Given the description of an element on the screen output the (x, y) to click on. 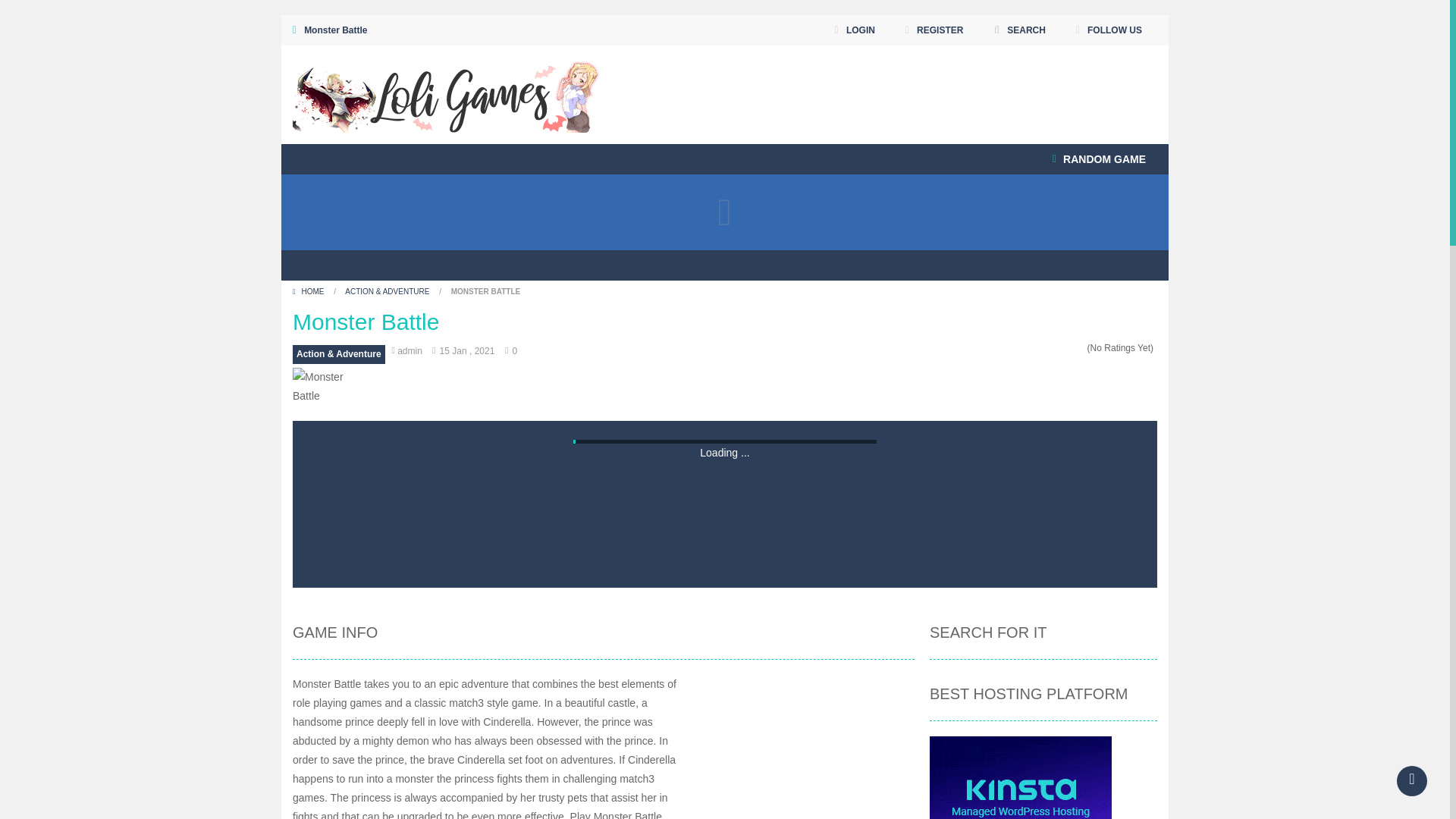
Loli Games (446, 94)
FOLLOW US (1108, 30)
LOGIN (855, 30)
SEARCH (1019, 30)
RANDOM GAME (1099, 159)
Play a random game! (1099, 159)
REGISTER (933, 30)
Loli Games (446, 93)
